Given the description of an element on the screen output the (x, y) to click on. 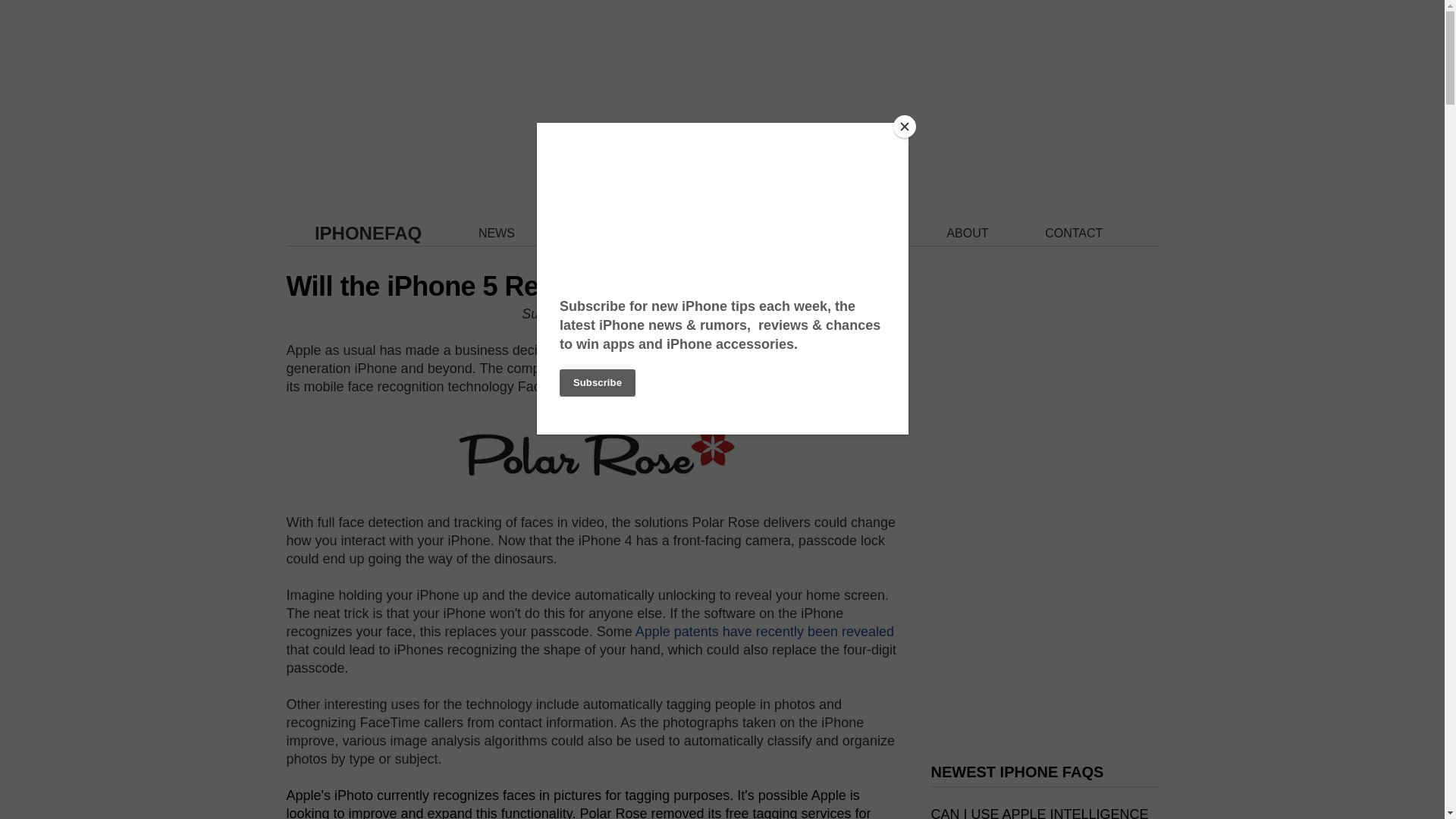
3rd party ad content (1044, 635)
Learn more about The iPhone FAQ. (967, 232)
CAN I USE APPLE INTELLIGENCE ON MY IPHONE? (1039, 812)
Contact us with your questions or comments. (1073, 232)
homepage (368, 232)
Tips on how to make the most of your iPhone or iOS device. (769, 232)
Search all our iPhone and iOS articles and FAQs. (864, 232)
The latest iPhone and iOS related news. (497, 232)
3rd party ad content (721, 94)
Apple patents have recently been revealed (763, 631)
apple iphone polar rose face recognition (592, 452)
3rd party ad content (1044, 422)
